Given the description of an element on the screen output the (x, y) to click on. 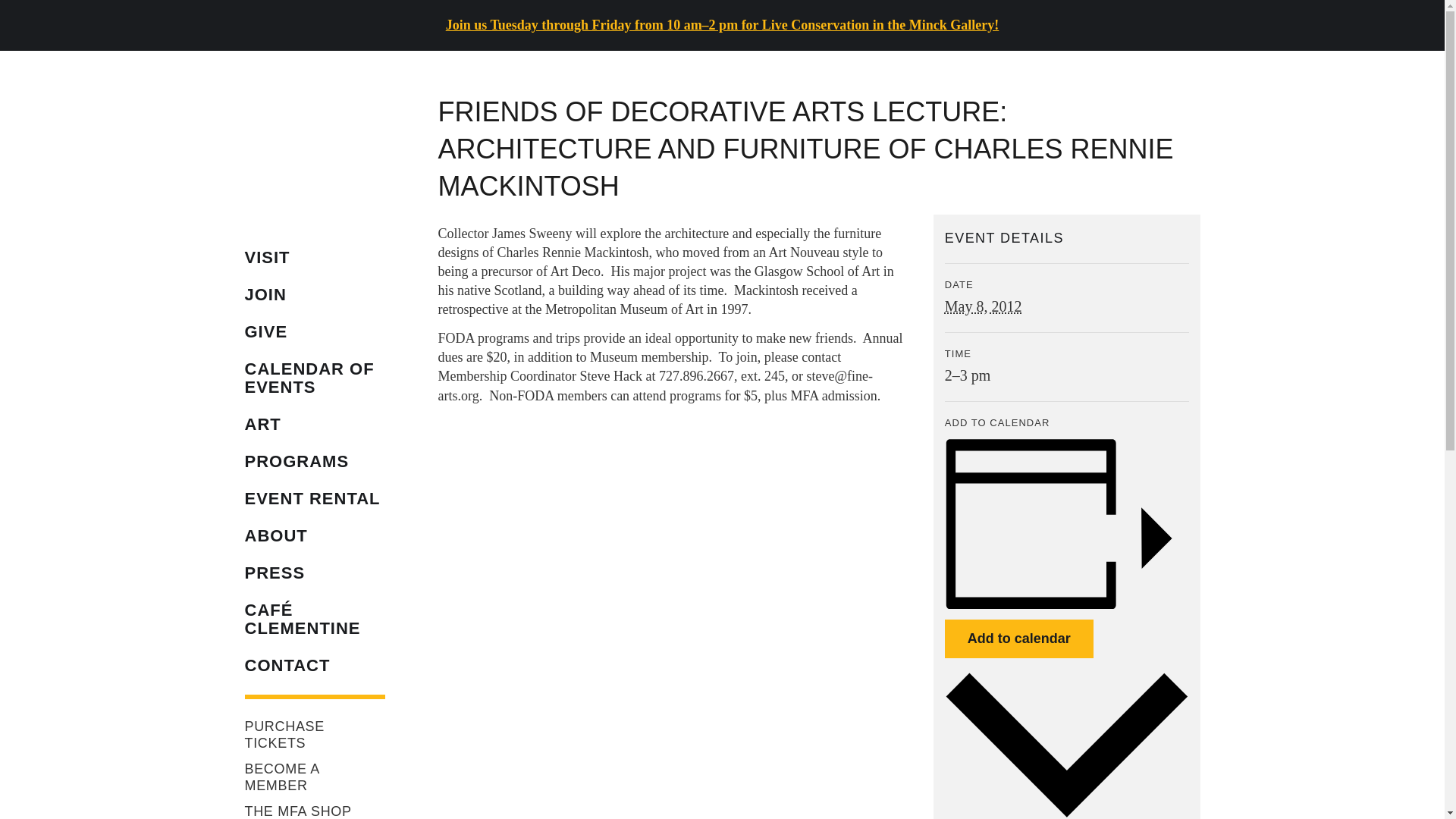
ART (314, 424)
2012-05-08 (1066, 374)
EVENT RENTAL (314, 498)
ABOUT (314, 535)
CALENDAR OF EVENTS (314, 377)
VISIT (314, 257)
2012-05-08 (983, 306)
Museum of Fine Arts, St Petersburg (315, 149)
JOIN (314, 294)
GIVE (314, 331)
PROGRAMS (314, 461)
